Given the description of an element on the screen output the (x, y) to click on. 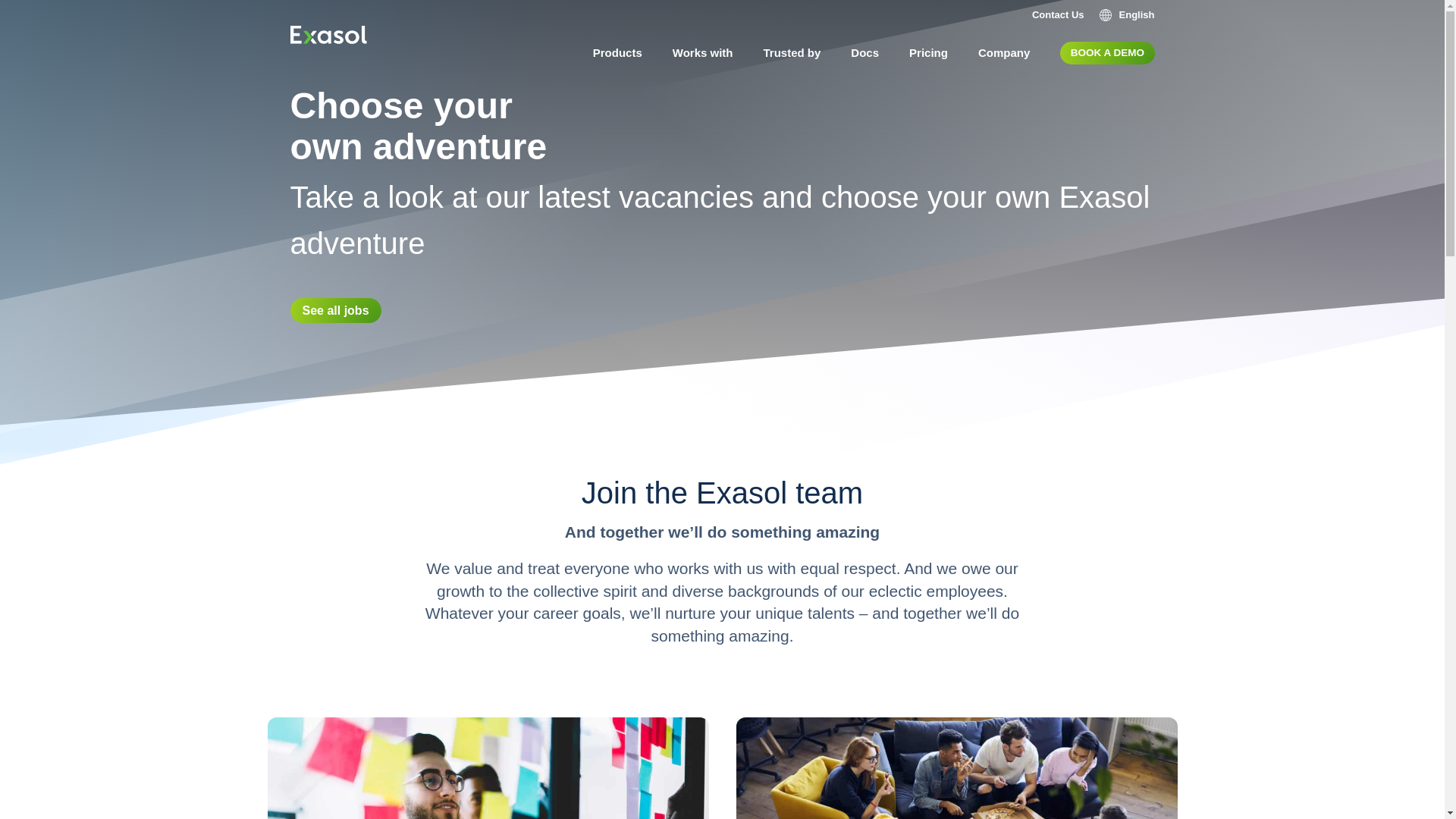
Docs (864, 53)
Products (618, 53)
Contact Us (1058, 15)
English (1126, 14)
Trusted by (791, 53)
Works with (703, 53)
